Given the description of an element on the screen output the (x, y) to click on. 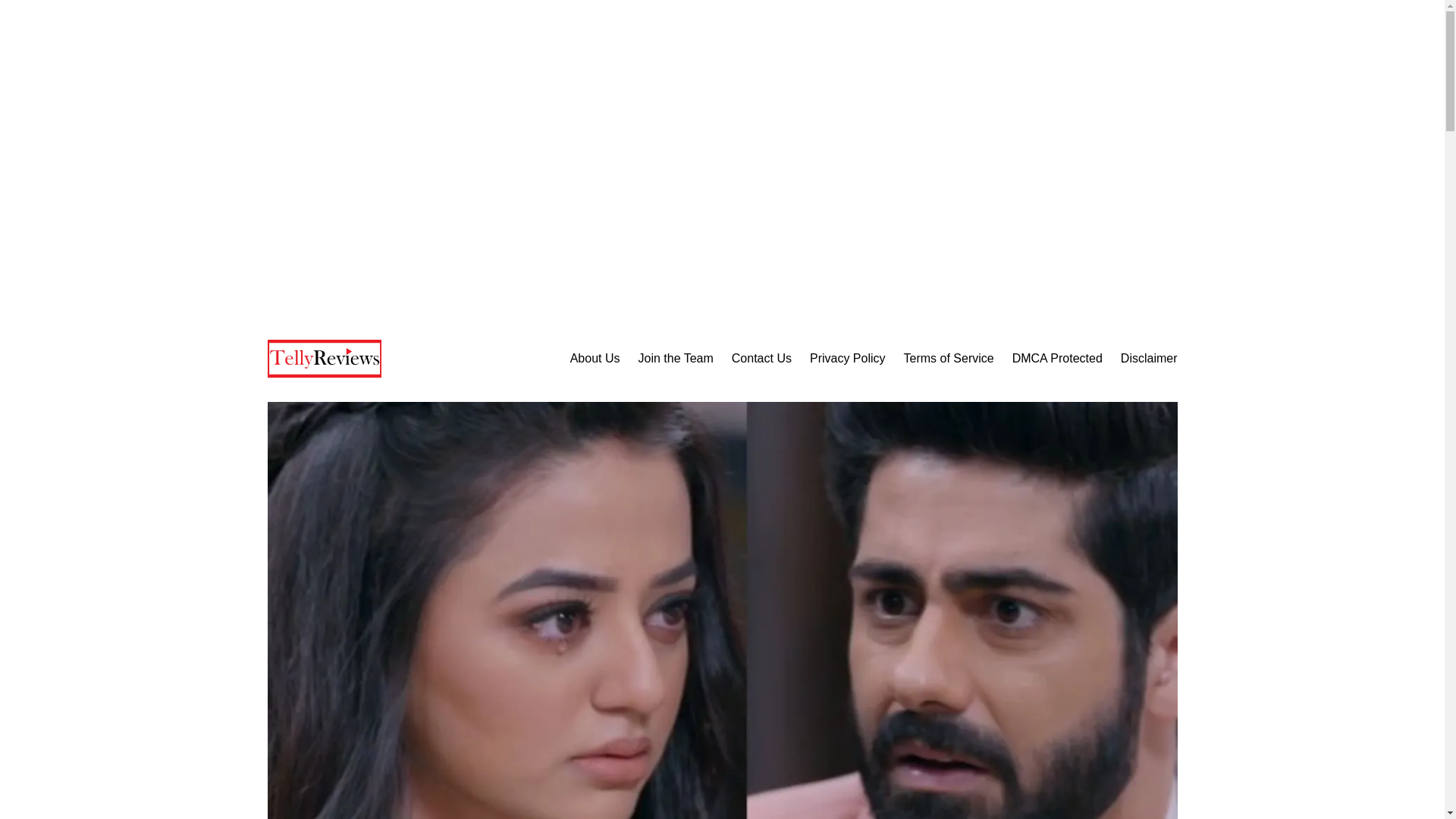
DMCA Protected (1056, 358)
Terms of Service (949, 358)
Privacy Policy (847, 358)
Contact Us (762, 358)
About Us (595, 358)
Join the Team (675, 358)
Disclaimer (1149, 358)
